Given the description of an element on the screen output the (x, y) to click on. 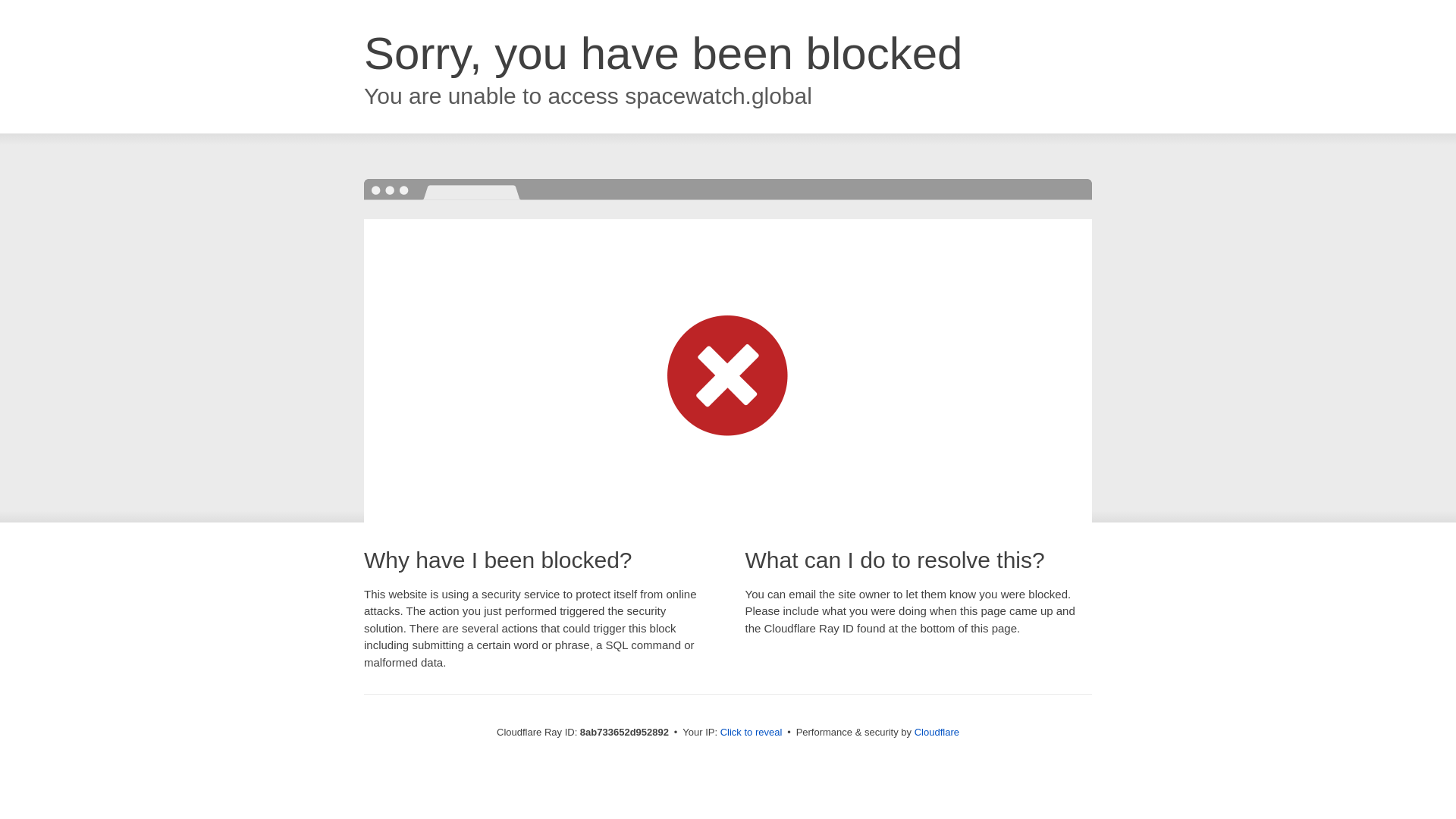
Cloudflare (936, 731)
Click to reveal (751, 732)
